Given the description of an element on the screen output the (x, y) to click on. 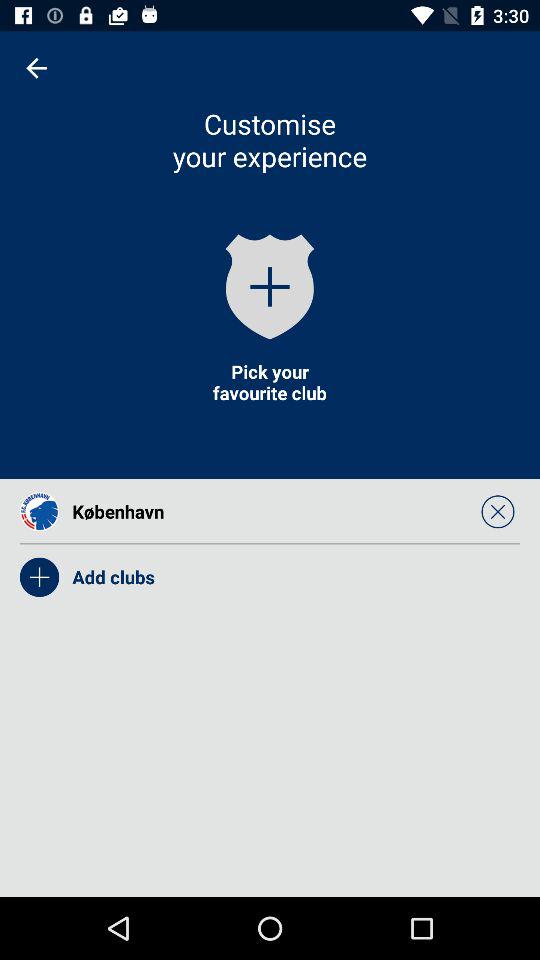
flip until the pick your favourite icon (269, 382)
